Given the description of an element on the screen output the (x, y) to click on. 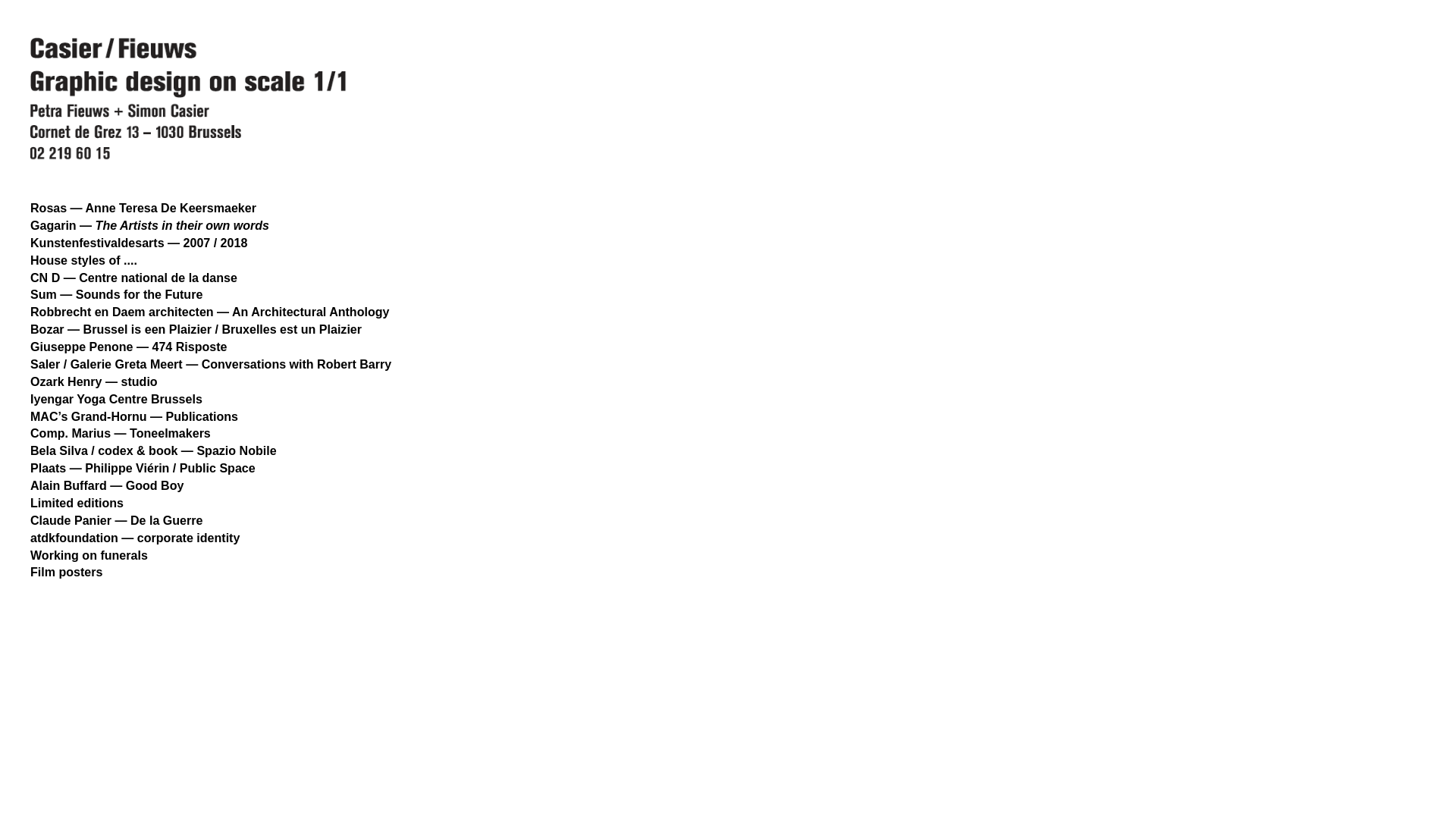
Iyengar Yoga Centre Brussels Element type: text (116, 398)
Limited editions Element type: text (76, 502)
House styles of .... Element type: text (83, 259)
Working on funerals Element type: text (88, 554)
Film posters Element type: text (66, 571)
